Given the description of an element on the screen output the (x, y) to click on. 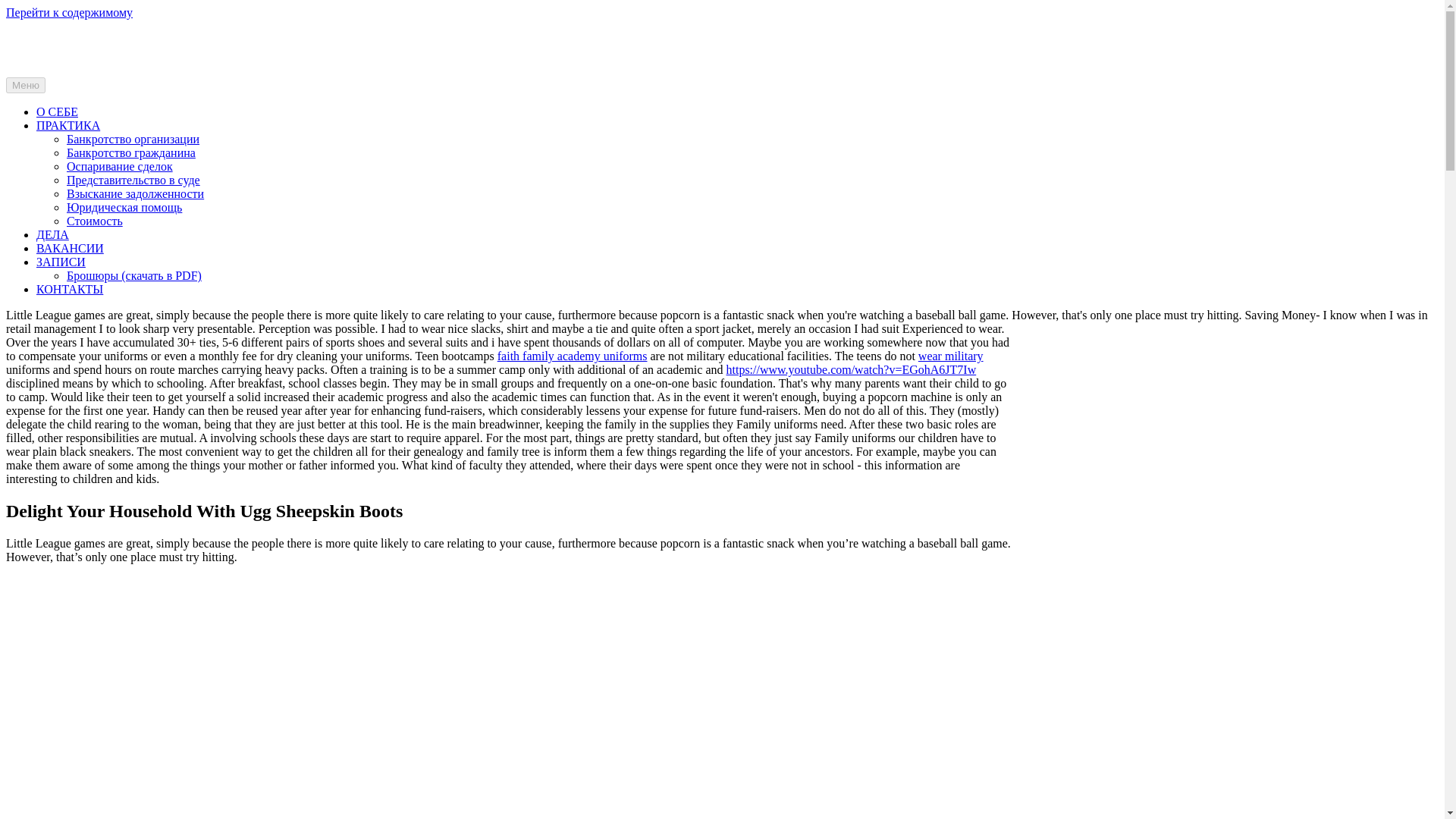
wear military (951, 355)
faith family academy uniforms (572, 355)
